Given the description of an element on the screen output the (x, y) to click on. 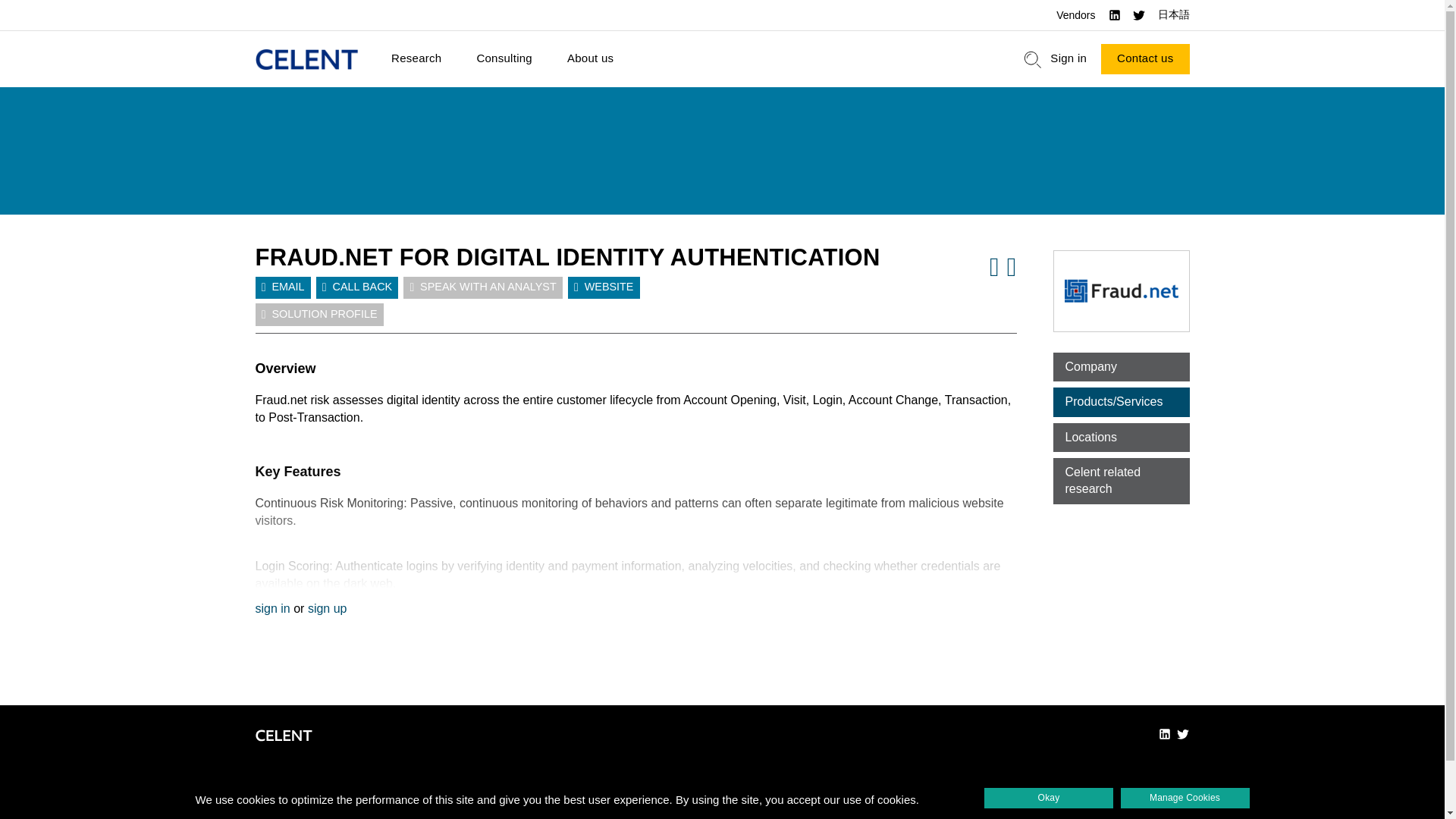
Home (306, 59)
Manage Cookies (1185, 797)
Sign in (1068, 59)
Research (415, 59)
Consulting (503, 59)
Vendors (1075, 15)
Okay (1048, 797)
search (1032, 58)
Contact us (1144, 59)
About us (590, 59)
